Given the description of an element on the screen output the (x, y) to click on. 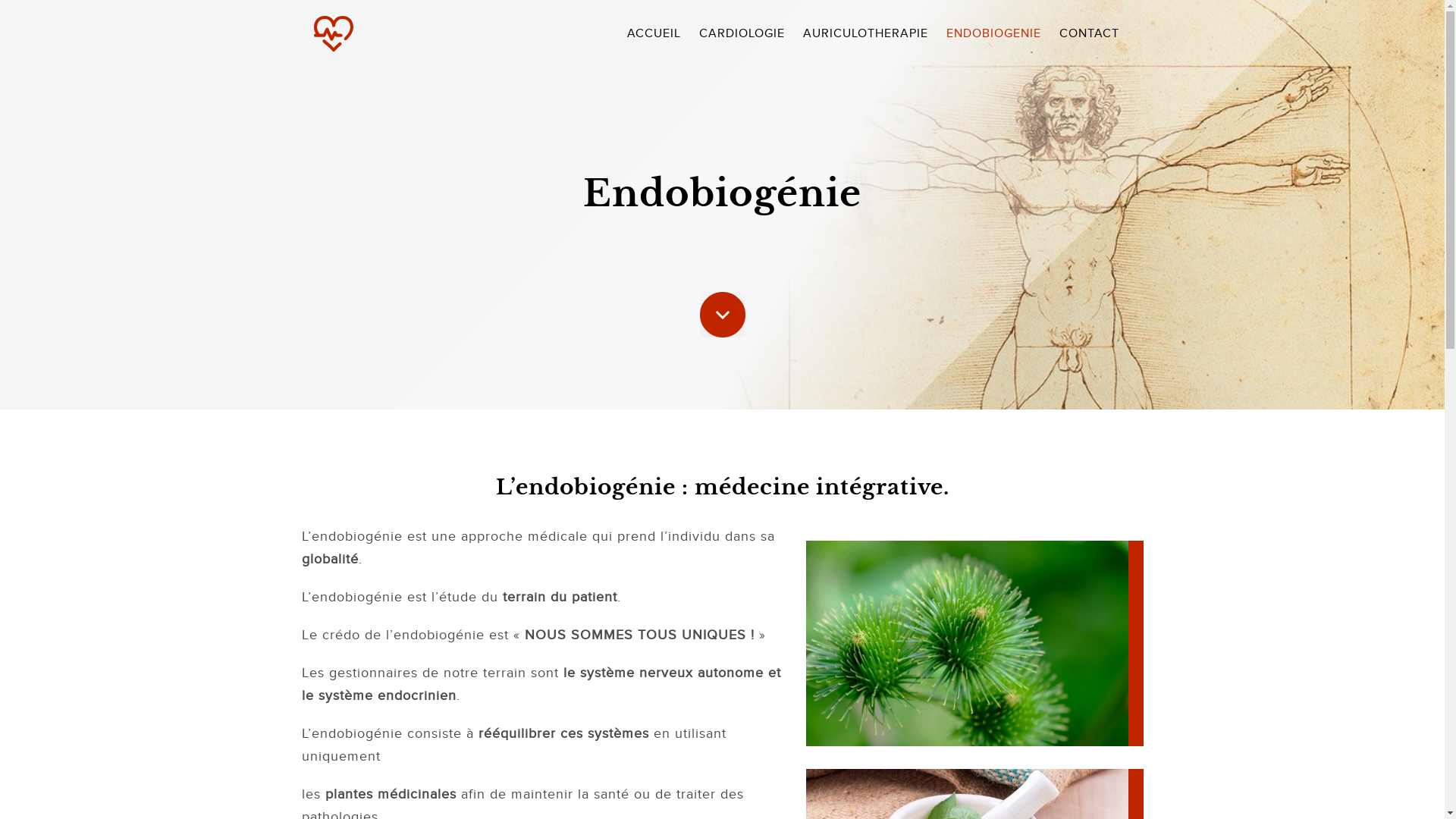
AURICULOTHERAPIE Element type: text (864, 33)
CONTACT Element type: text (1088, 33)
ENDOBIOGENIE Element type: text (993, 33)
CARDIOLOGIE Element type: text (741, 33)
ACCUEIL Element type: text (653, 33)
